Given the description of an element on the screen output the (x, y) to click on. 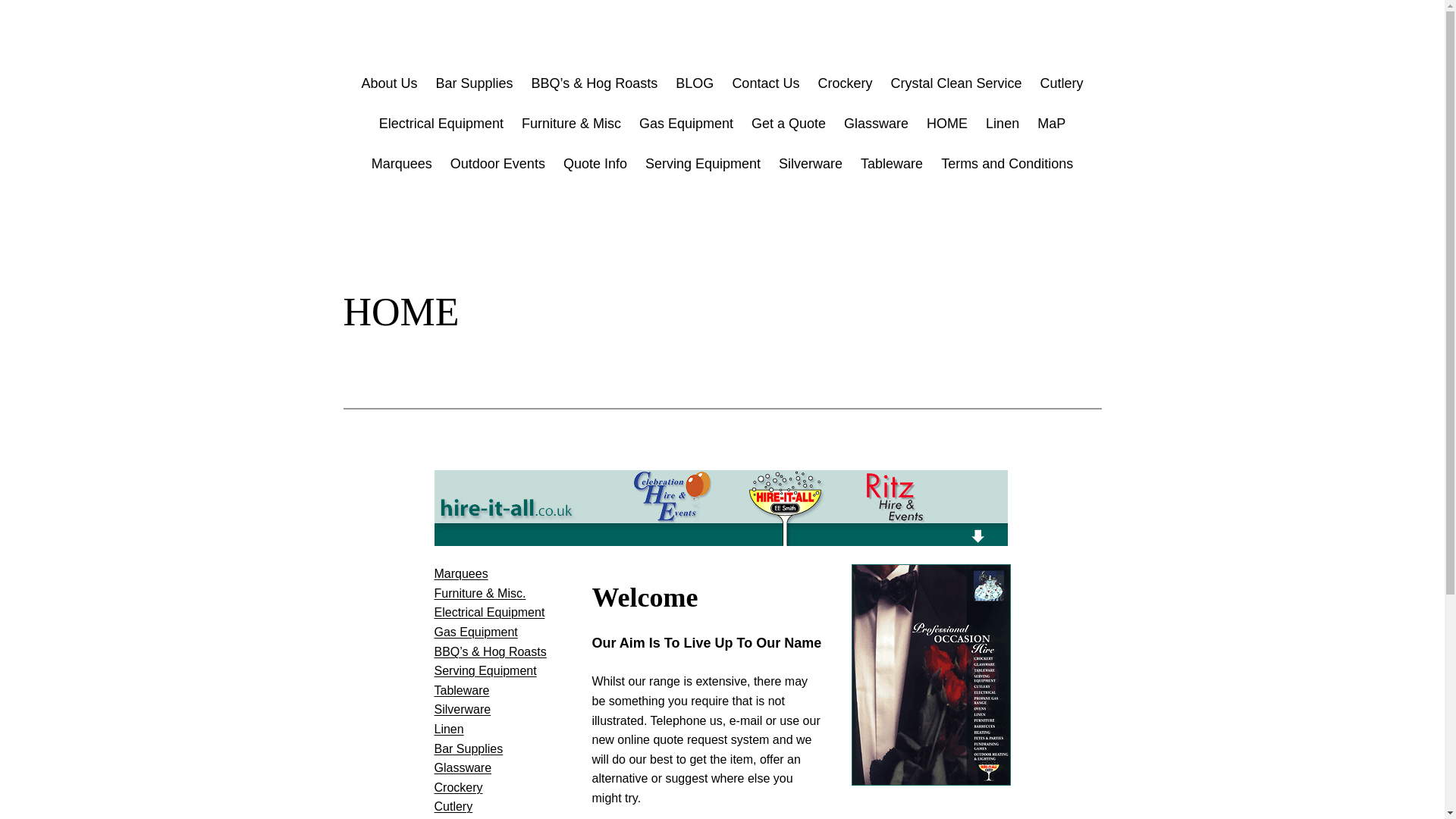
Electrical Equipment (488, 612)
Marquees (401, 164)
Outdoor Events (496, 164)
Serving Equipment (702, 164)
Glassware (462, 767)
About Us (388, 83)
MaP (1050, 124)
Gas Equipment (686, 124)
Linen (1002, 124)
Crystal Clean Service (955, 83)
